Given the description of an element on the screen output the (x, y) to click on. 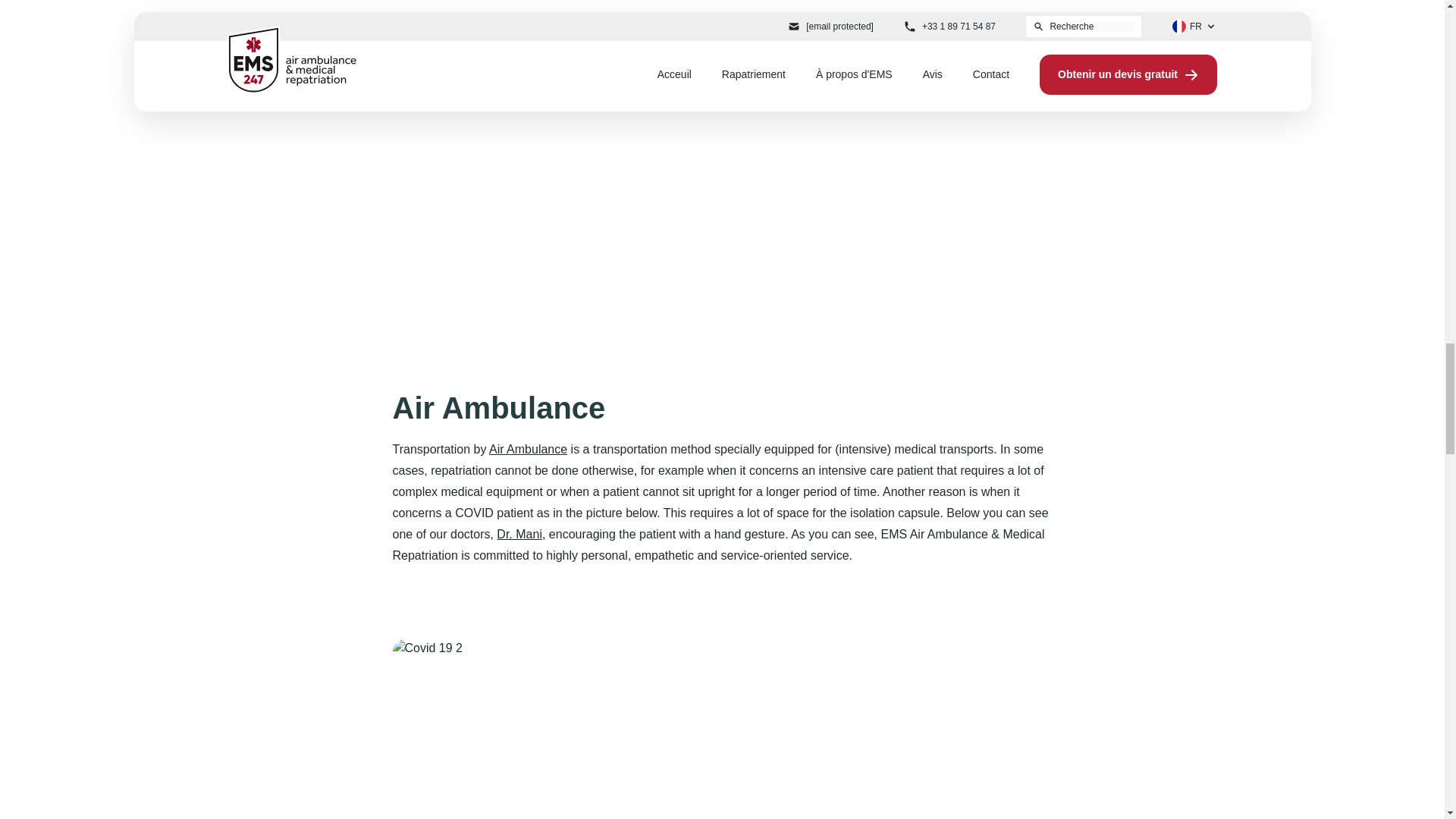
Air Ambulance (528, 449)
Dr. Mani (518, 533)
